Given the description of an element on the screen output the (x, y) to click on. 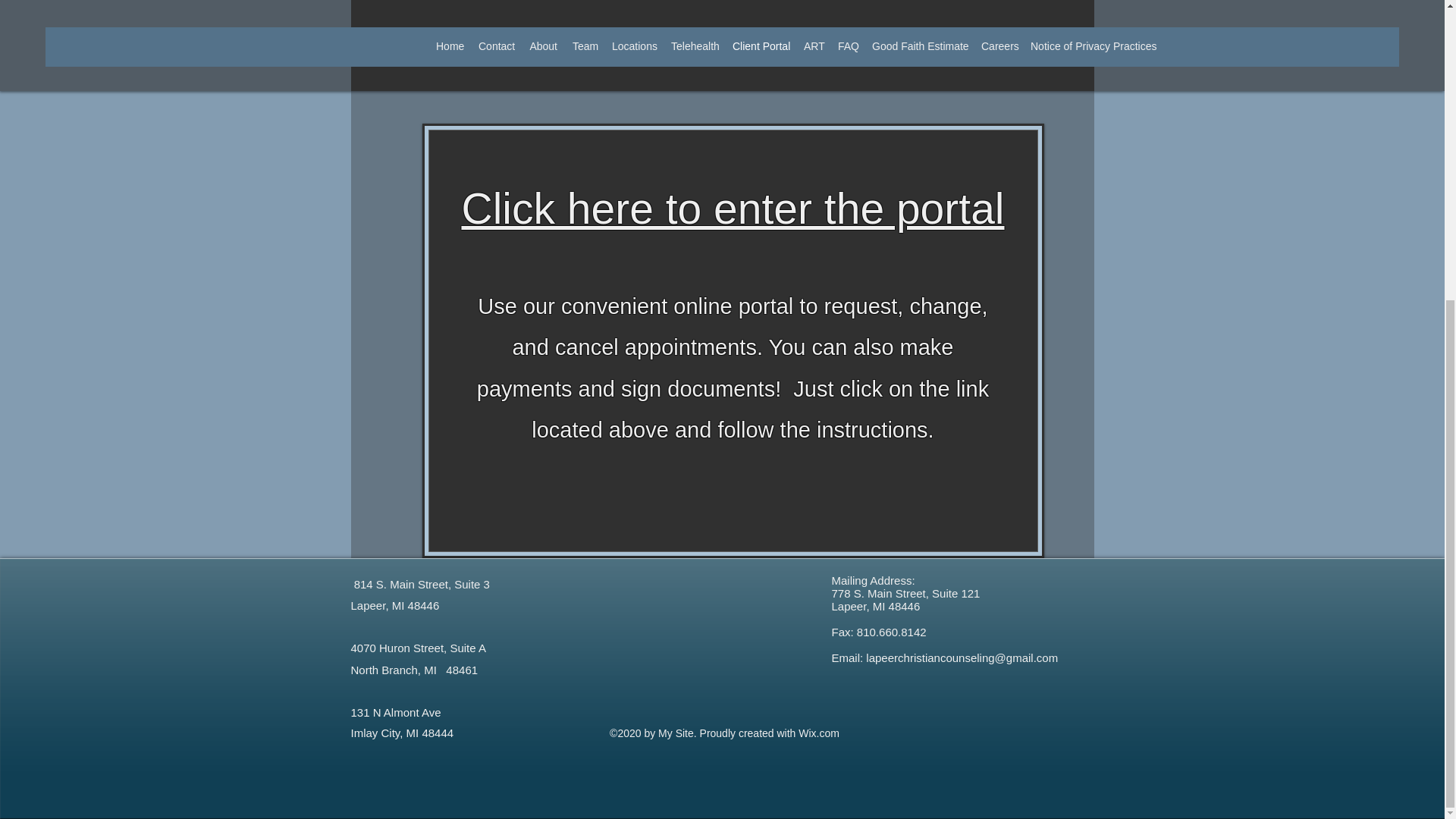
Telehealth (694, 46)
Notice of Privacy Practices (1090, 46)
Team (584, 46)
Contact (495, 46)
Careers (998, 46)
Good Faith Estimate (919, 46)
Home (449, 46)
Locations (633, 46)
Client Portal (760, 46)
About (542, 46)
Click here to enter the portal (732, 208)
